Given the description of an element on the screen output the (x, y) to click on. 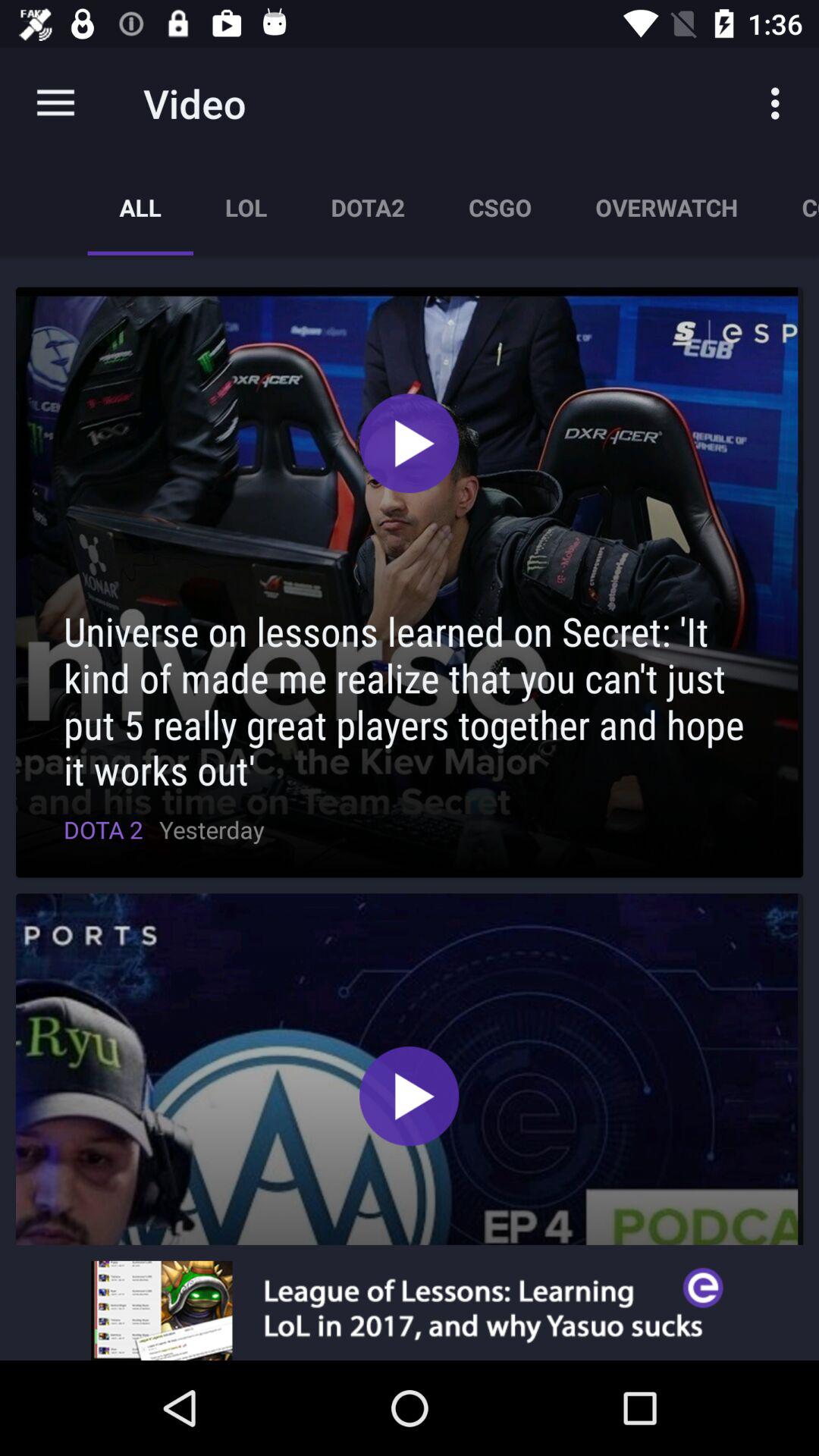
advertising (409, 1310)
